Given the description of an element on the screen output the (x, y) to click on. 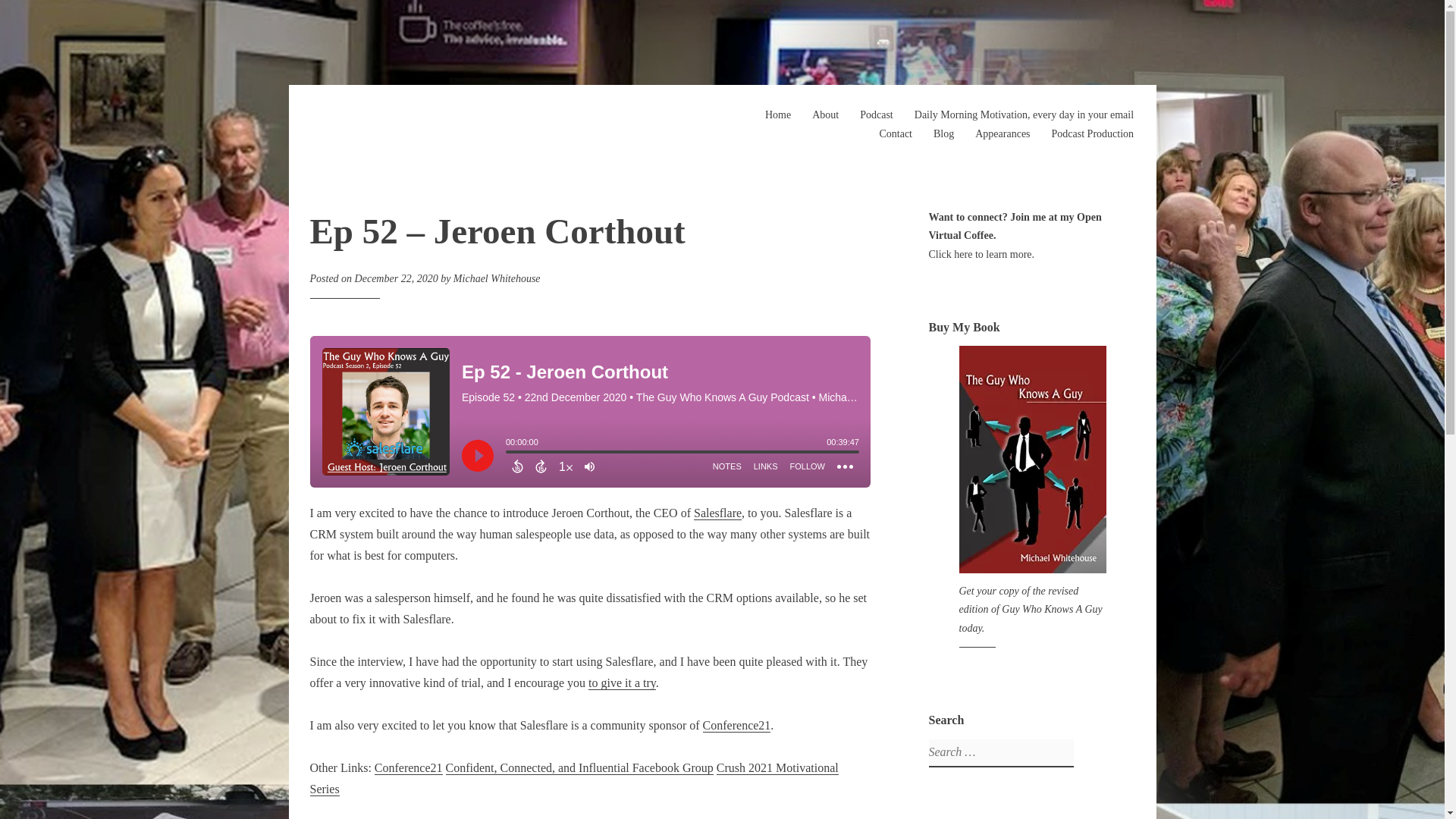
Salesflare (717, 513)
Michael Whitehouse (496, 278)
Contact (895, 132)
Confident, Connected, and Influential Facebook Group (579, 767)
Podcast (876, 114)
Conference21 (737, 725)
December 22, 2020 (396, 278)
to give it a try (622, 683)
Home (777, 114)
Podcast Production (1092, 132)
Daily Morning Motivation, every day in your email (1024, 114)
Appearances (1002, 132)
Crush 2021 Motivational Series (573, 778)
Conference21 (408, 767)
